Given the description of an element on the screen output the (x, y) to click on. 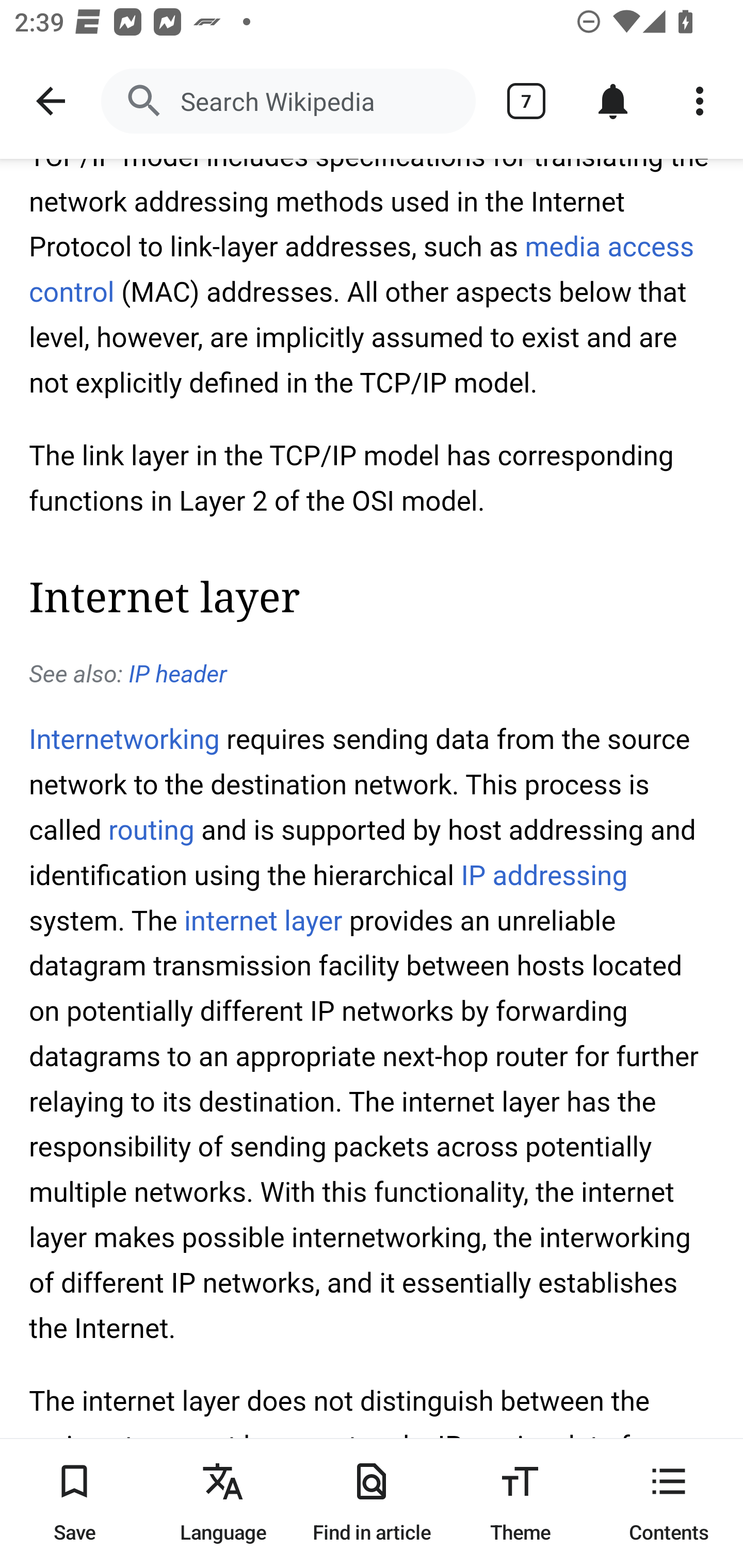
Show tabs 7 (525, 100)
Notifications (612, 100)
Navigate up (50, 101)
More options (699, 101)
Search Wikipedia (288, 100)
media access control (361, 270)
IP header (177, 675)
Internetworking (124, 741)
routing (151, 830)
IP addressing (543, 876)
internet layer (262, 922)
Save (74, 1502)
Language (222, 1502)
Find in article (371, 1502)
Theme (519, 1502)
Contents (668, 1502)
